Given the description of an element on the screen output the (x, y) to click on. 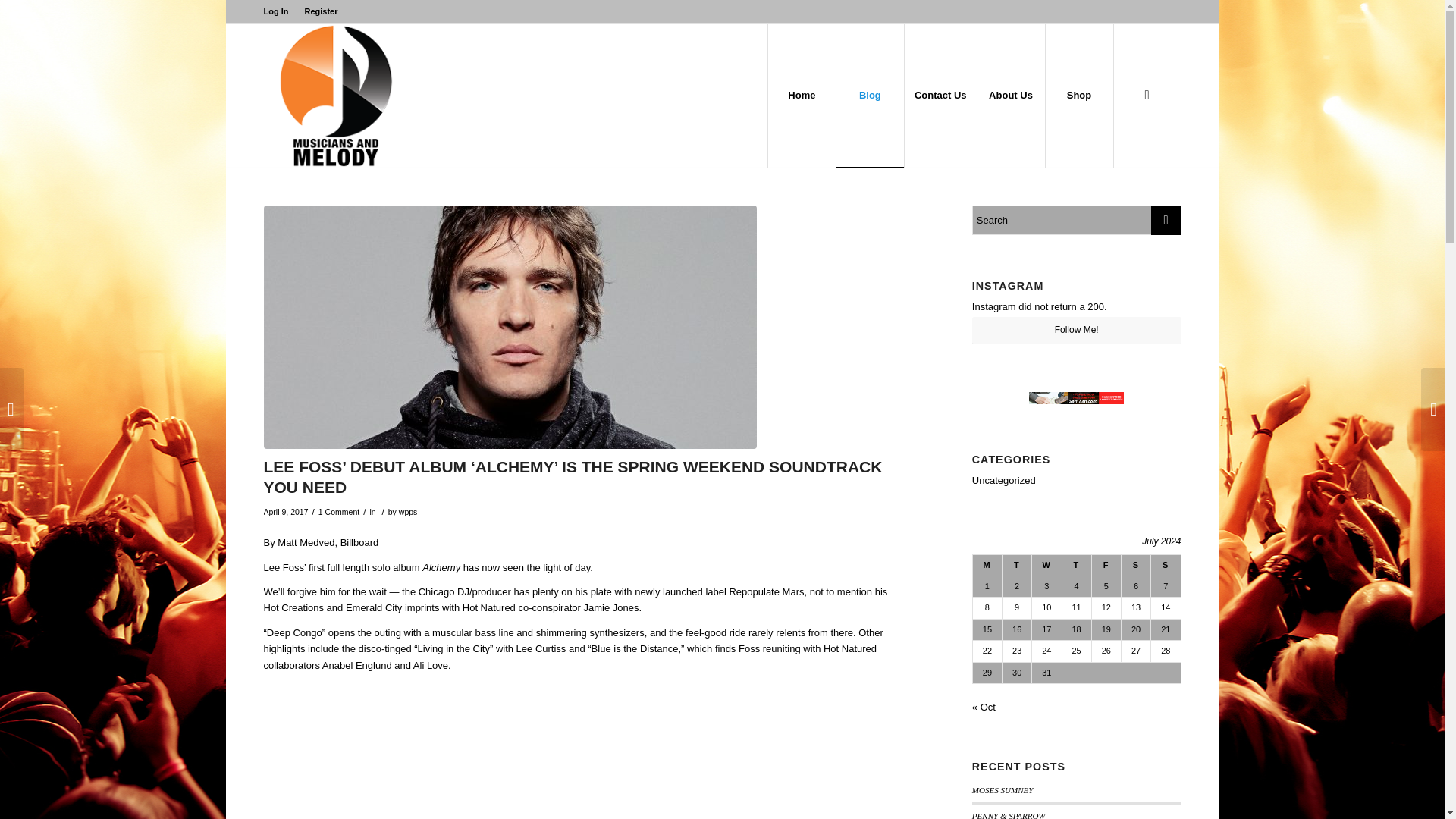
wpps (407, 511)
Contact Us (940, 95)
Log In (275, 11)
Register (320, 11)
Home (801, 95)
Posts by wpps (407, 511)
1 Comment (338, 511)
Blog (869, 95)
